Given the description of an element on the screen output the (x, y) to click on. 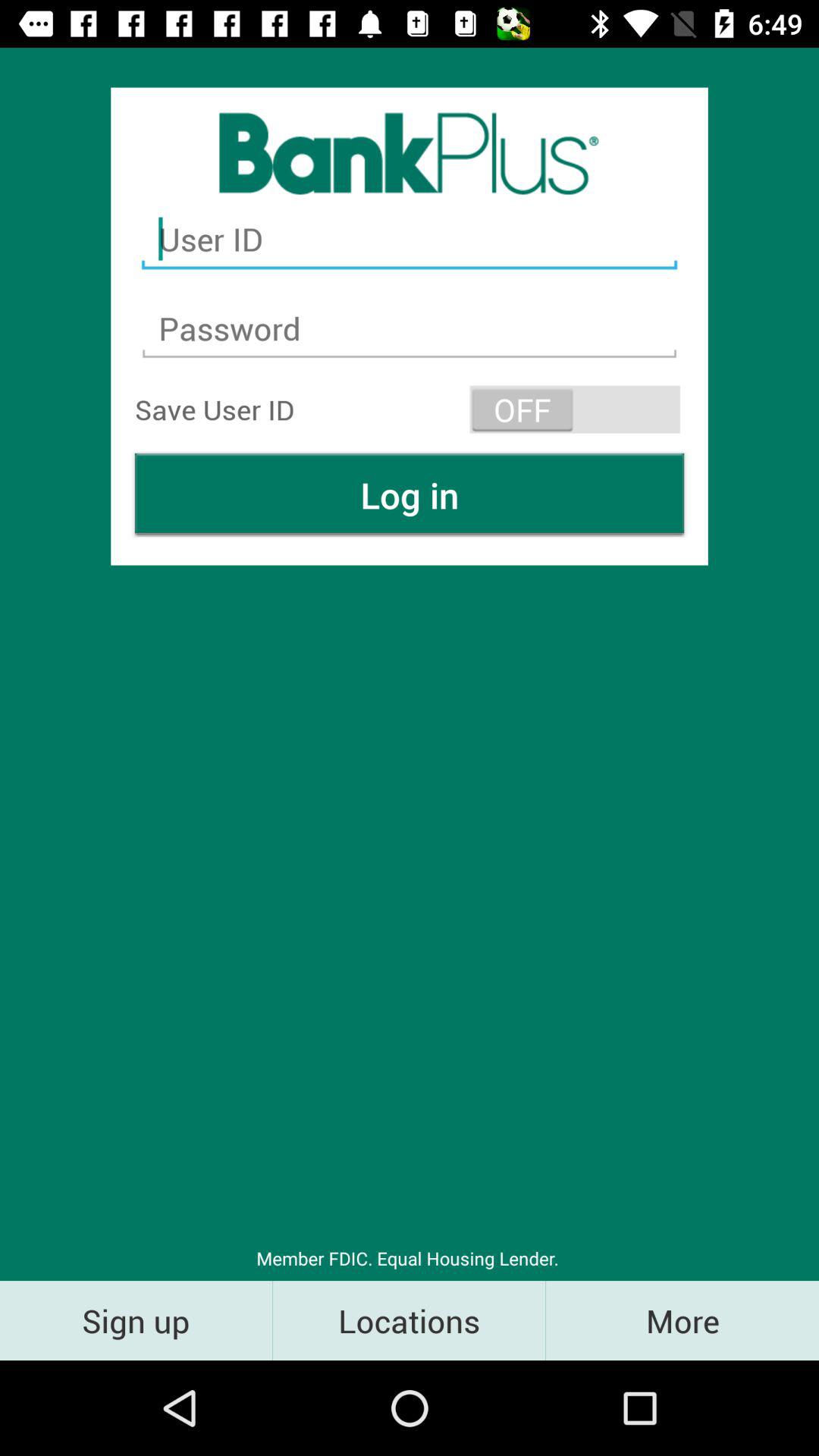
click icon next to the save user id item (574, 409)
